Given the description of an element on the screen output the (x, y) to click on. 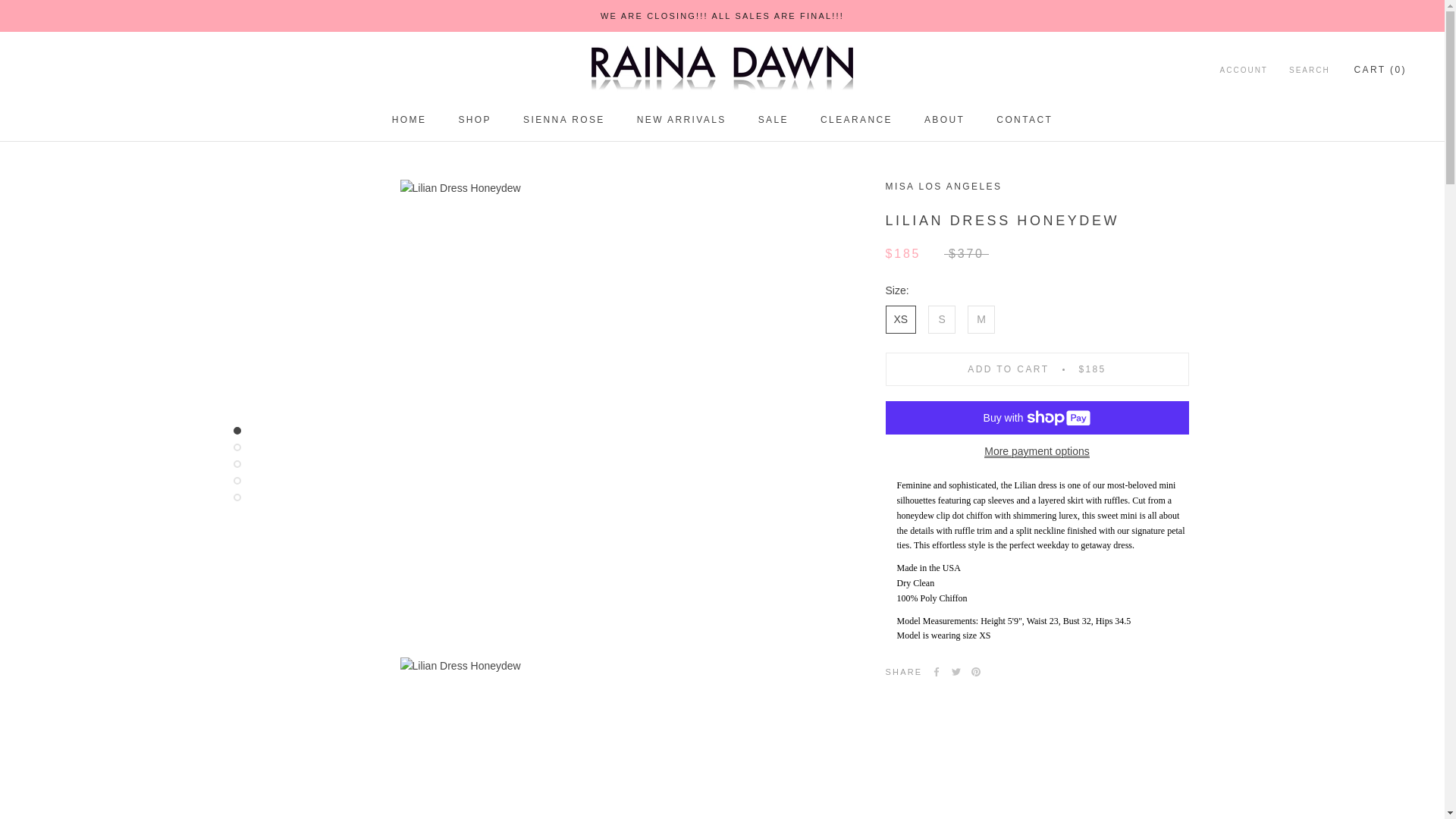
WE ARE CLOSING!!! ALL SALES ARE FINAL!!! (721, 15)
SHOP (408, 119)
